Given the description of an element on the screen output the (x, y) to click on. 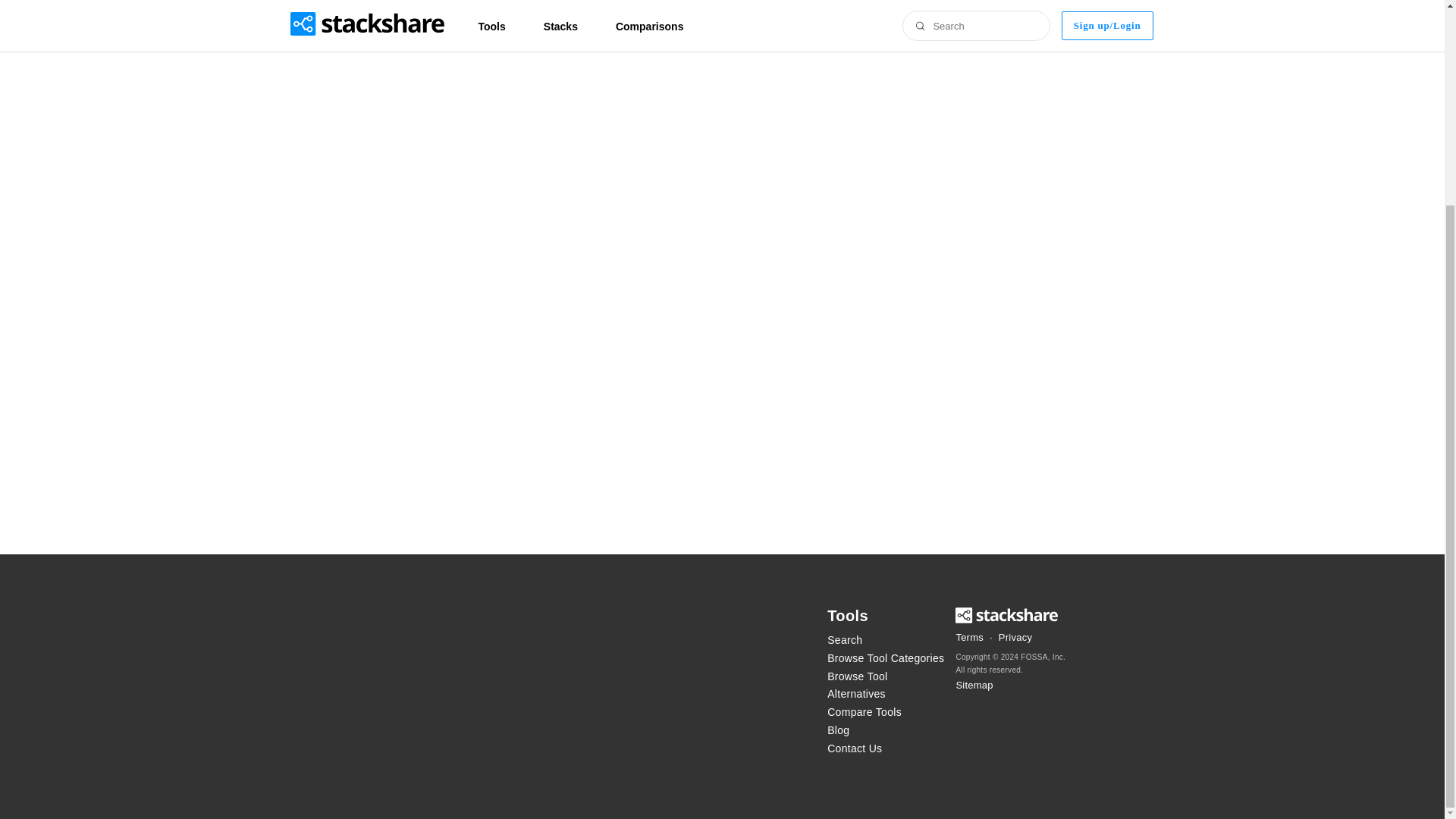
Privacy (1015, 637)
Browse Tool Categories (885, 659)
Search (885, 640)
Blog (885, 730)
Featured Posts (885, 730)
Terms (969, 637)
Compare Tools (885, 712)
Browse Tool Alternatives (885, 686)
Compare Tools (885, 712)
Sitemap (973, 685)
Contact Us (885, 749)
Contact Us (885, 749)
